Given the description of an element on the screen output the (x, y) to click on. 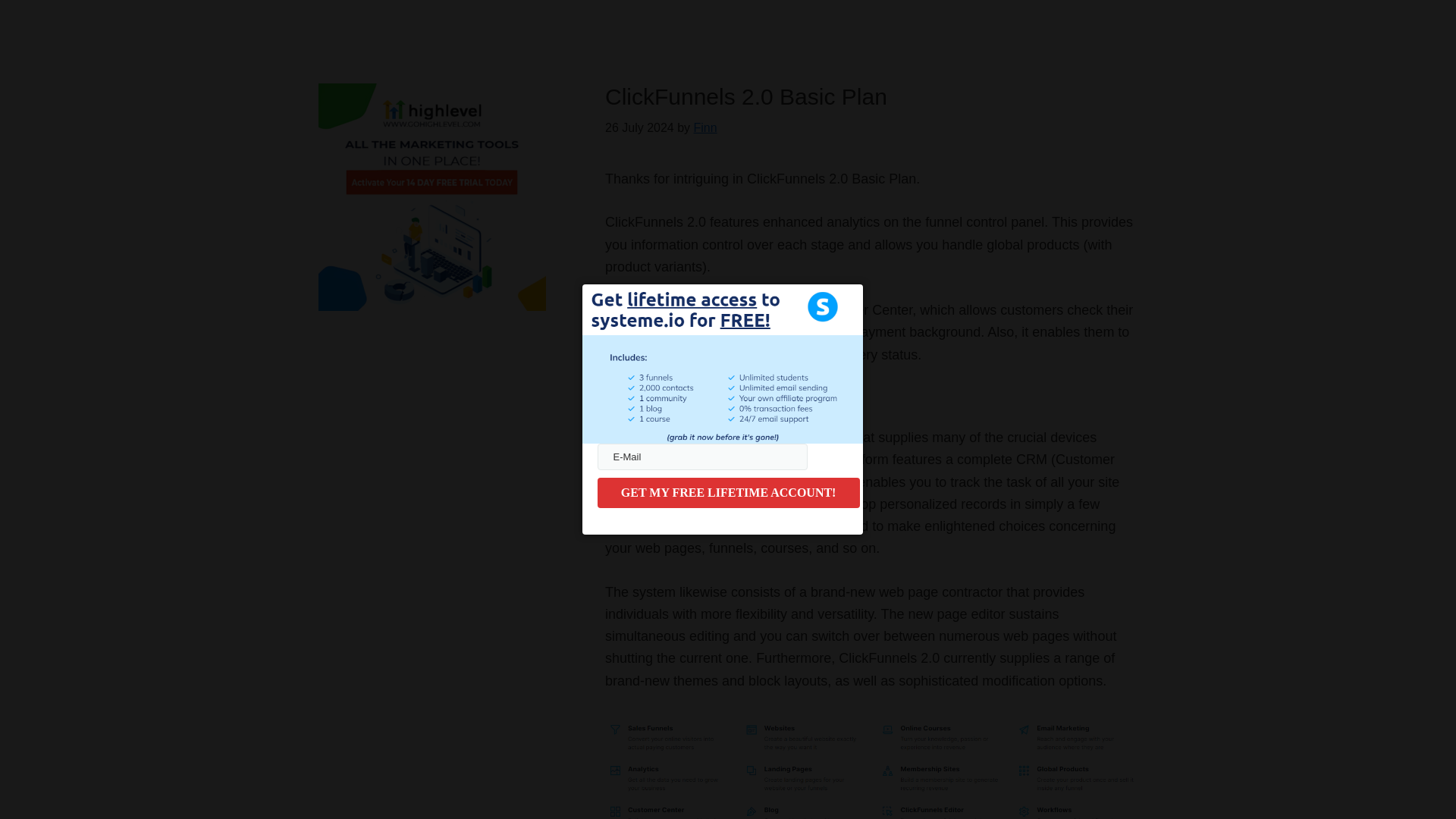
GET MY FREE LIFETIME ACCOUNT! (728, 492)
GET MY FREE LIFETIME ACCOUNT! (728, 492)
Finn (705, 127)
